Given the description of an element on the screen output the (x, y) to click on. 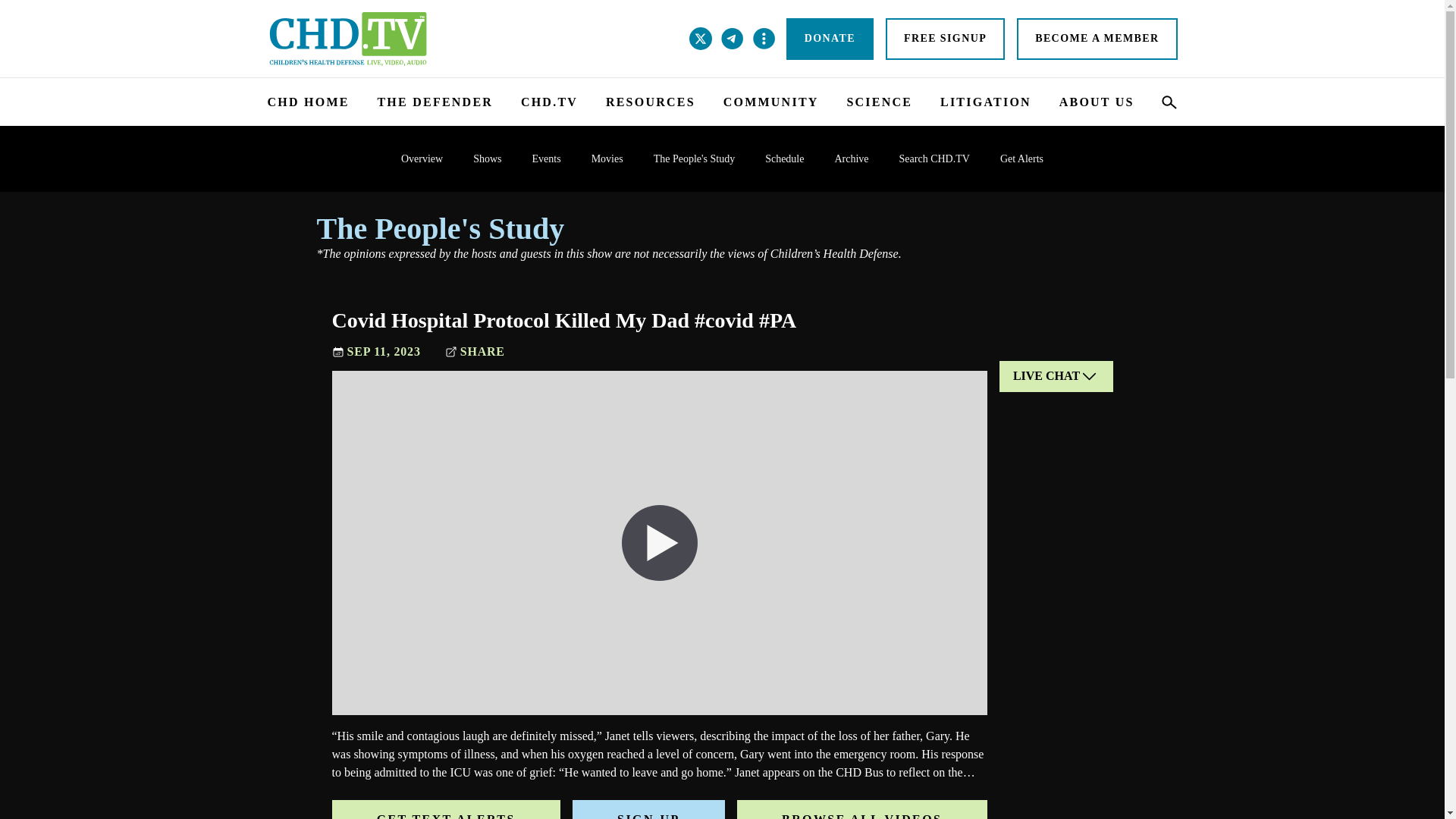
COMMUNITY (770, 102)
BROWSE ALL VIDEOS (861, 809)
CHD.TV (549, 102)
DONATE (829, 38)
Schedule (783, 158)
CHD HOME (307, 102)
FREE SIGNUP (944, 38)
LITIGATION (985, 102)
GET TEXT ALERTS (445, 809)
BECOME A MEMBER (1096, 38)
